Given the description of an element on the screen output the (x, y) to click on. 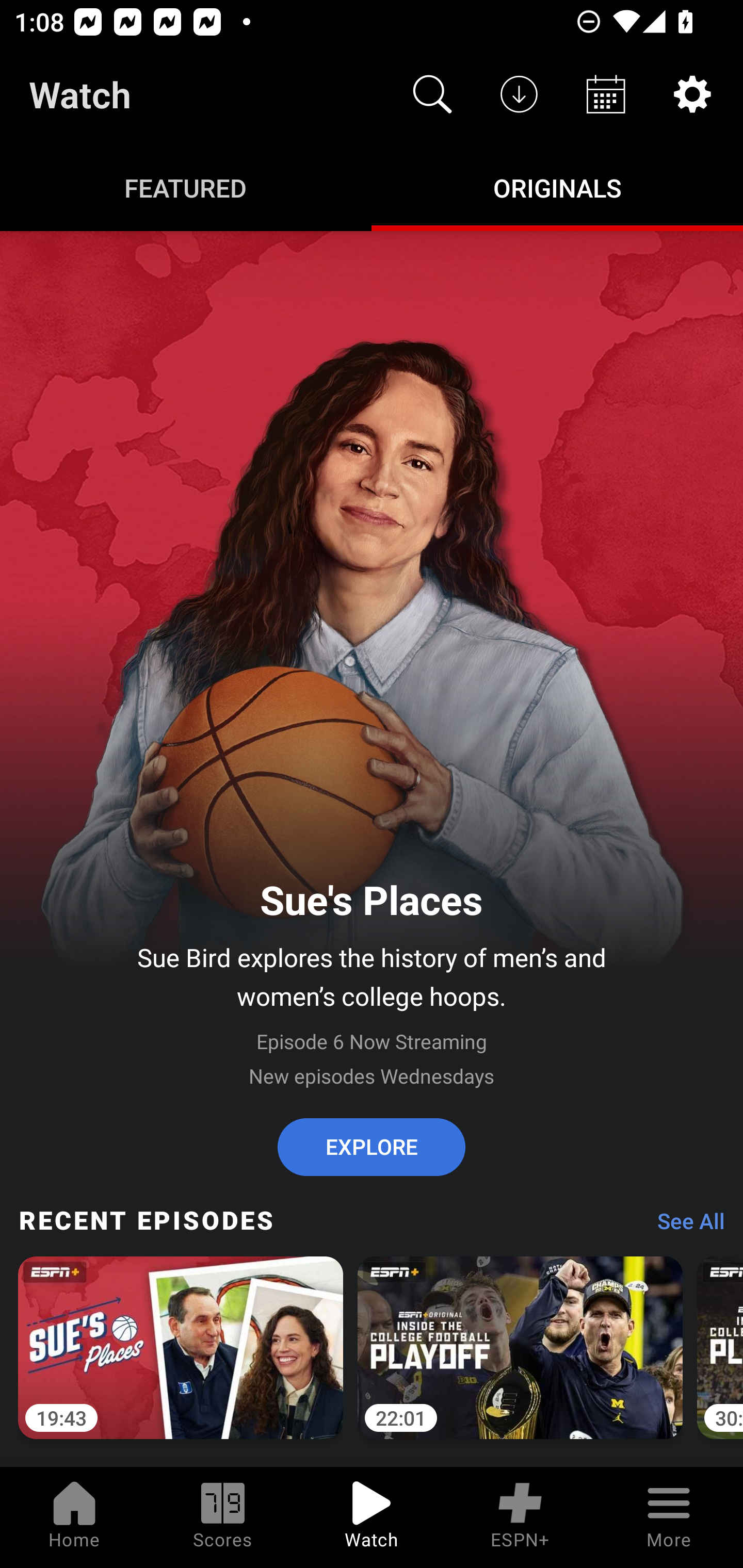
Search (432, 93)
Downloads (518, 93)
Schedule (605, 93)
Settings (692, 93)
Featured FEATURED (185, 187)
EXPLORE (371, 1146)
See All (683, 1225)
19:43 Let’s Go Krzy (Ep. 6) (180, 1358)
22:01 Nobody Better (Ep. 4) (519, 1358)
Home (74, 1517)
Scores (222, 1517)
ESPN+ (519, 1517)
More (668, 1517)
